Given the description of an element on the screen output the (x, y) to click on. 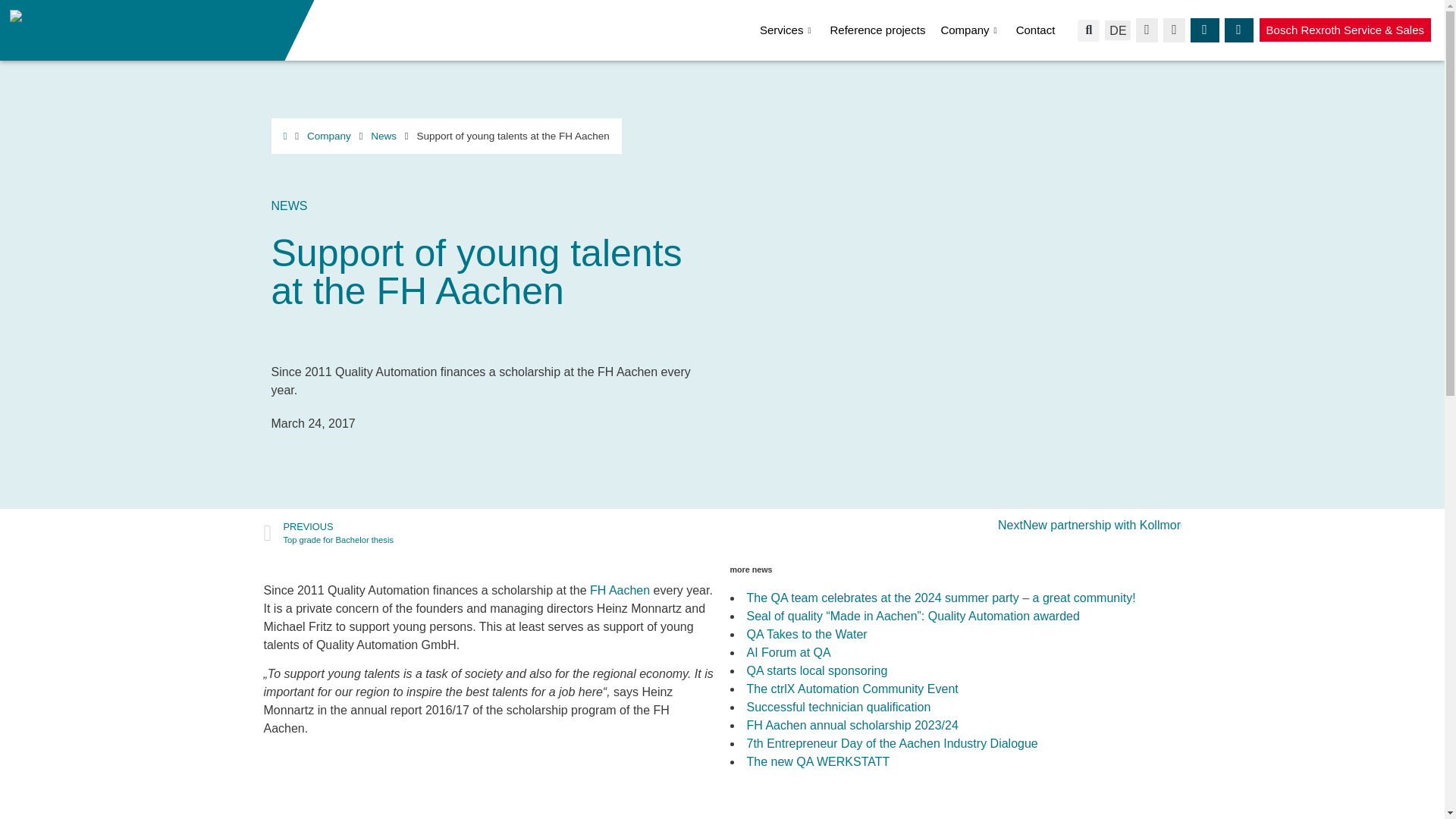
Quality Automation Logo (62, 27)
Services (794, 30)
